Given the description of an element on the screen output the (x, y) to click on. 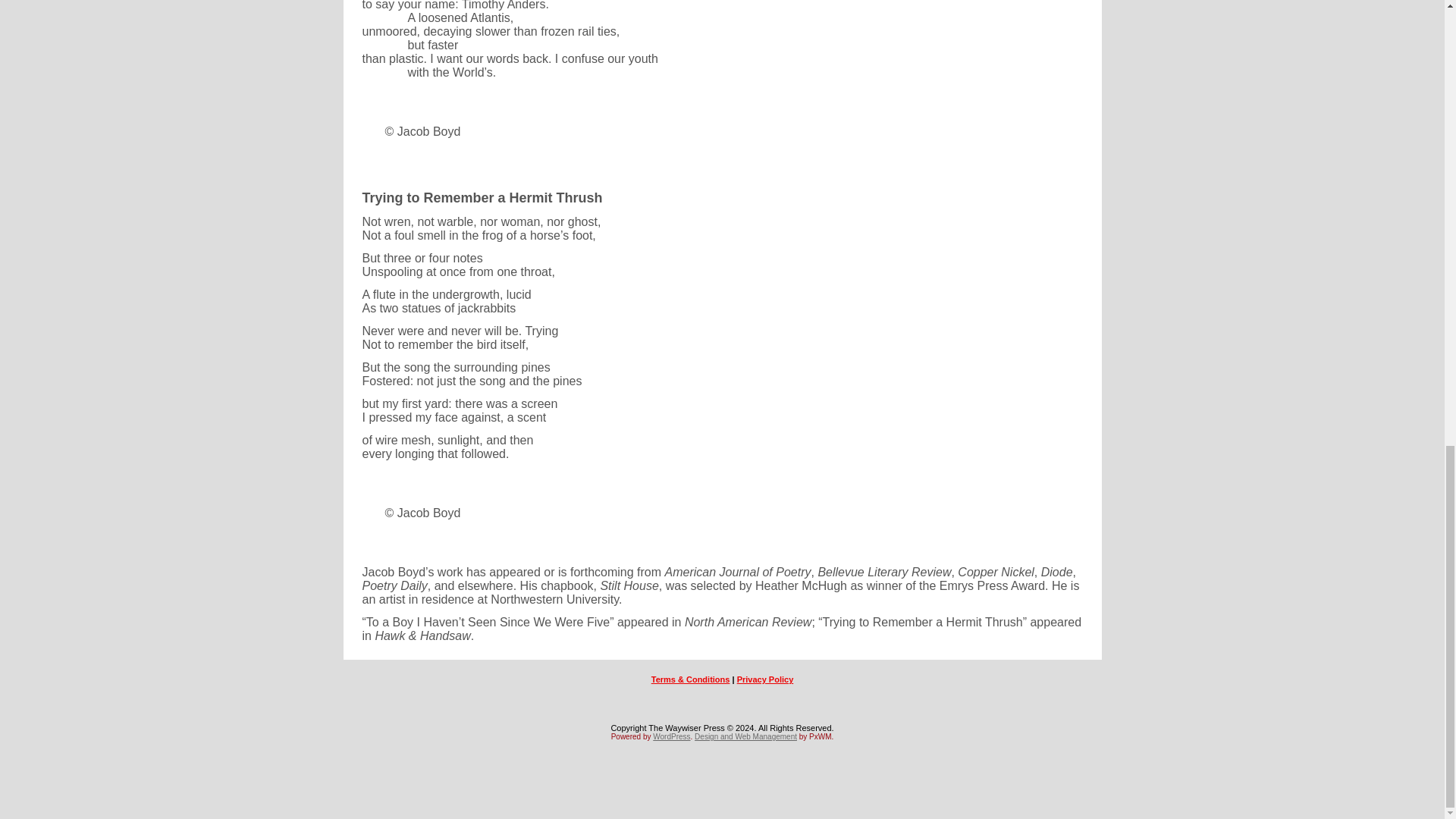
Privacy Policy (764, 678)
WordPress (671, 736)
Design and Web Management (745, 736)
